Given the description of an element on the screen output the (x, y) to click on. 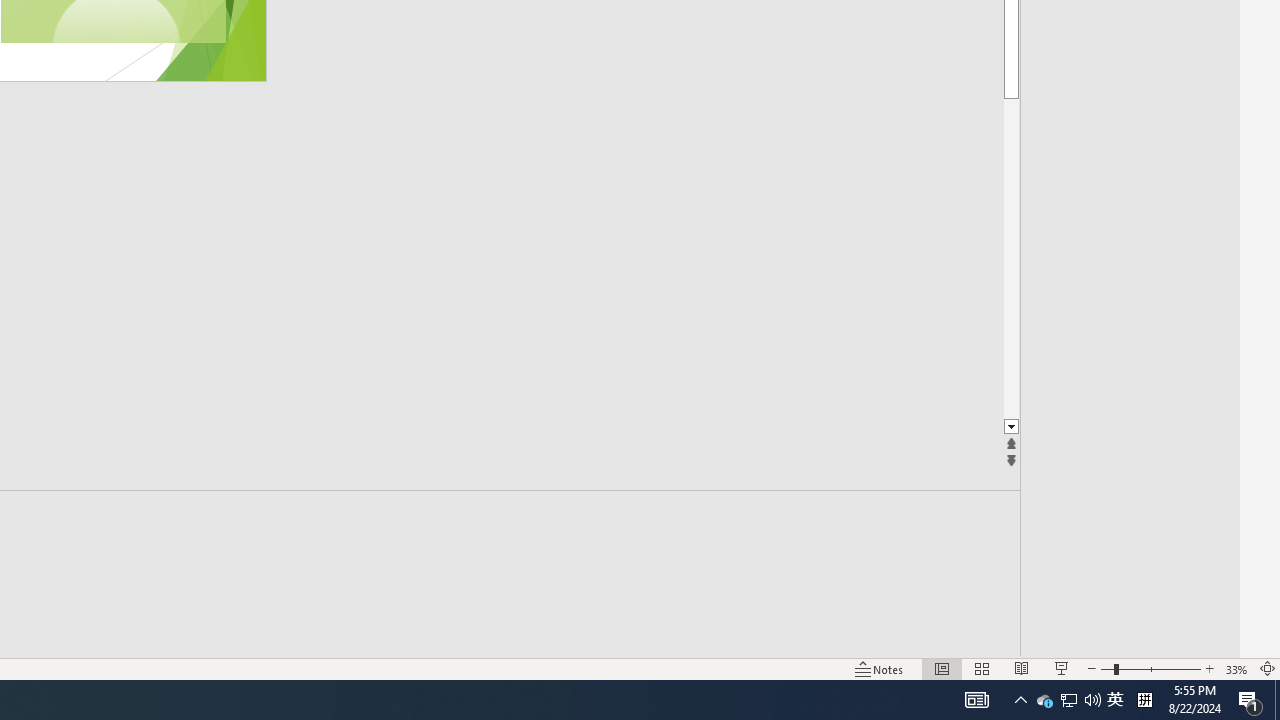
Zoom 33% (1236, 668)
